Given the description of an element on the screen output the (x, y) to click on. 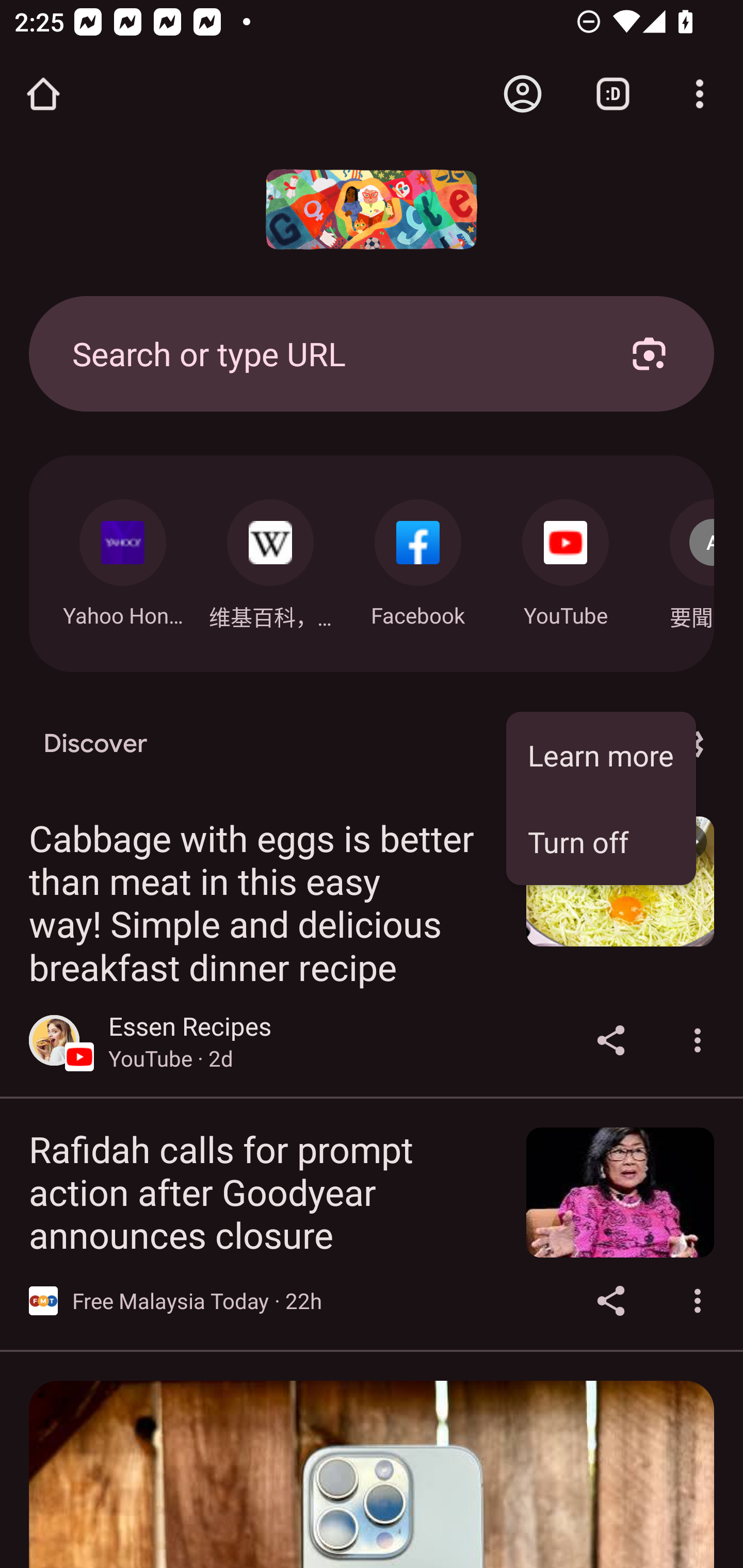
Learn more (600, 754)
Turn off (600, 841)
